Given the description of an element on the screen output the (x, y) to click on. 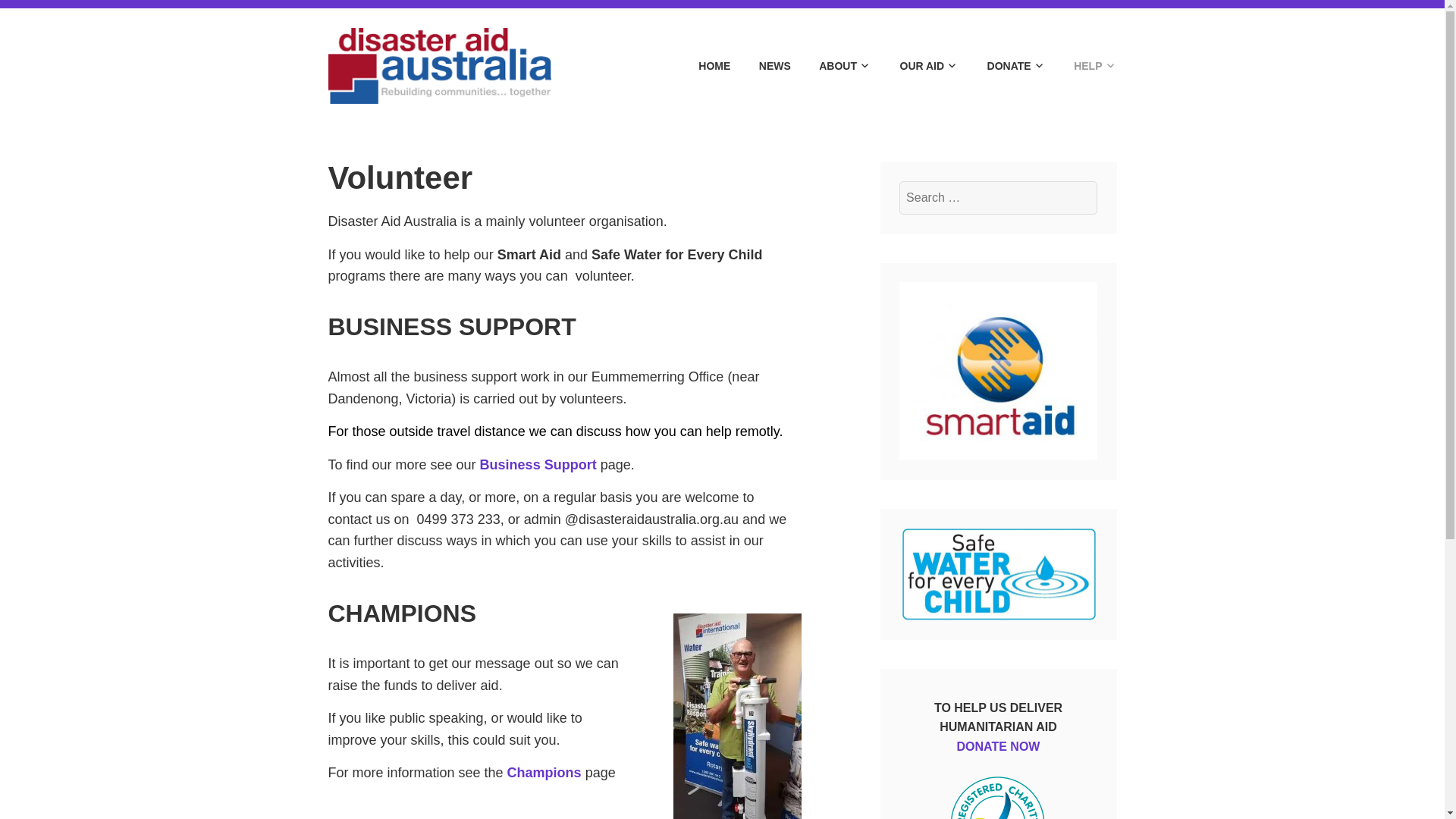
NEWS (761, 65)
OUR AID (916, 65)
HOME (701, 65)
DISASTER AID AUSTRALIA (767, 43)
ABOUT (831, 65)
DONATE (1002, 65)
